Given the description of an element on the screen output the (x, y) to click on. 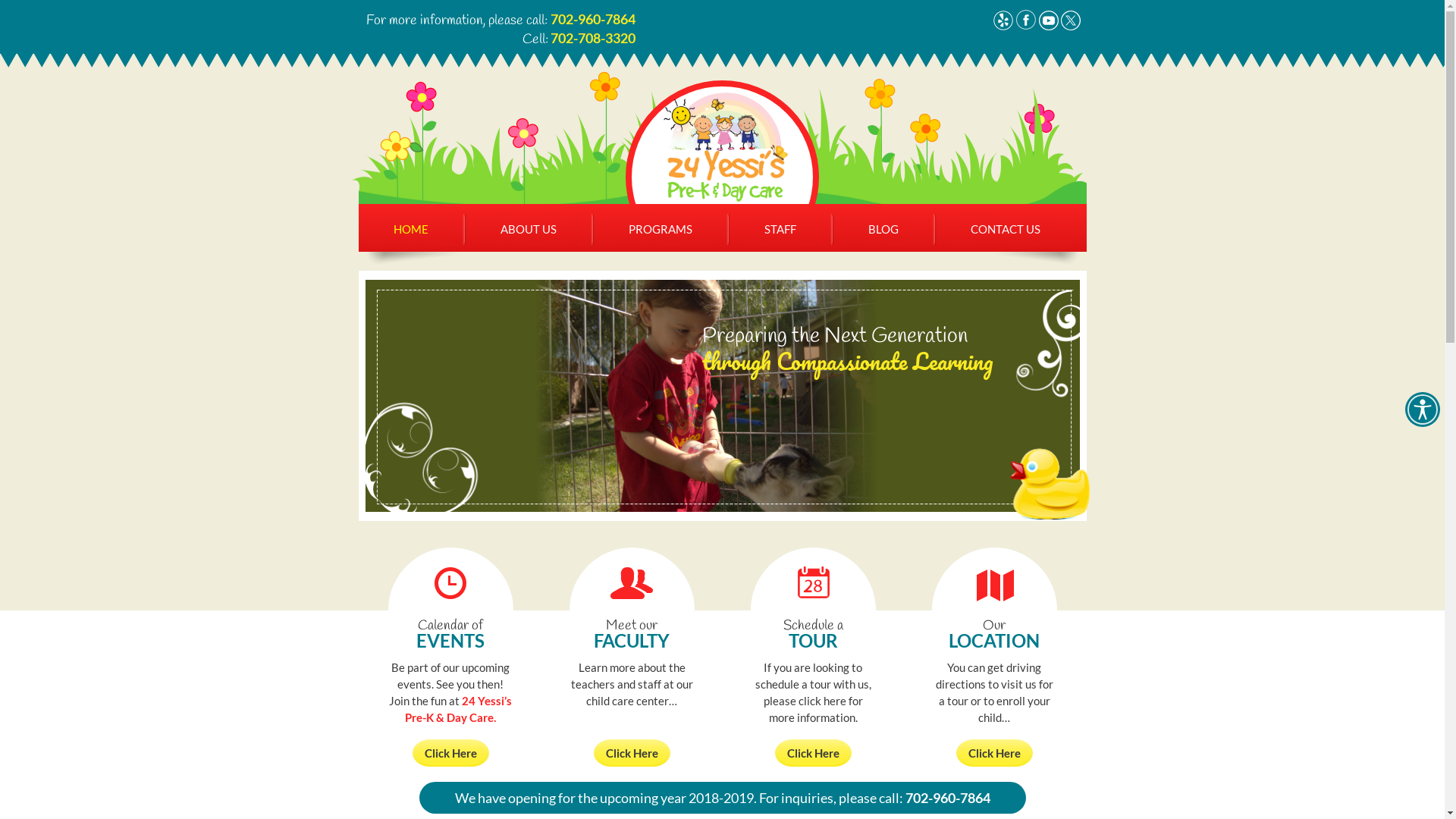
Click Here Element type: text (813, 752)
Click Here Element type: text (631, 752)
HOME Element type: text (410, 228)
Click Here Element type: text (450, 752)
ABOUT US Element type: text (527, 228)
BLOG Element type: text (882, 228)
STAFF Element type: text (779, 228)
PROGRAMS Element type: text (660, 228)
Click Here Element type: text (993, 752)
CONTACT US Element type: text (1004, 228)
